Given the description of an element on the screen output the (x, y) to click on. 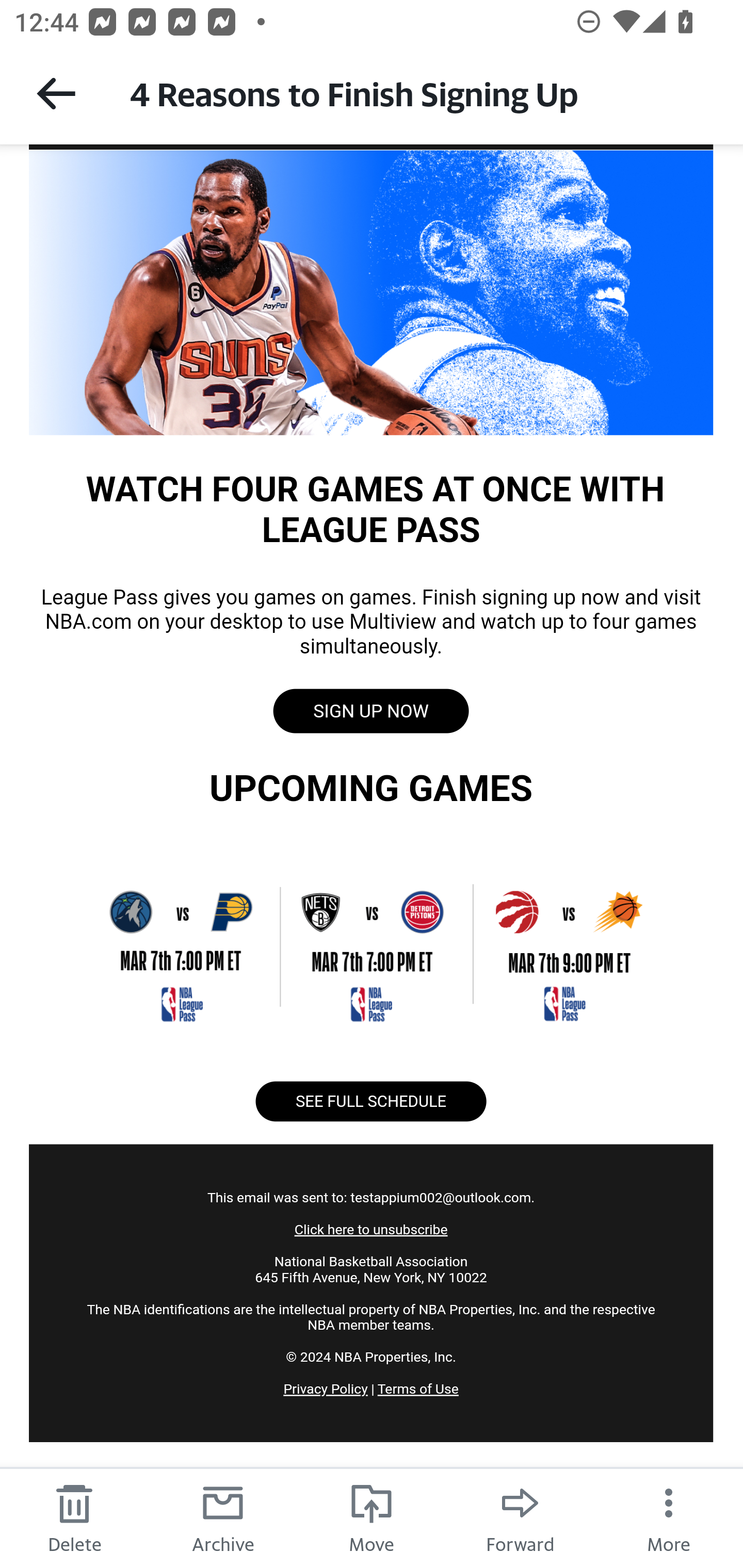
Back (55, 92)
WATCH FOUR GAMES AT ONCE WITH LEAGUE PASS (370, 291)
SIGN UP NOW (370, 710)
Game Schedule (370, 945)
SEE FULL SCHEDULE (370, 1100)
testappium002@outlook.com (440, 1196)
Click here to unsubscribe (370, 1229)
Privacy Policy (325, 1389)
Terms of Use (417, 1389)
Delete (74, 1517)
Archive (222, 1517)
Move (371, 1517)
Forward (519, 1517)
More (668, 1517)
